Given the description of an element on the screen output the (x, y) to click on. 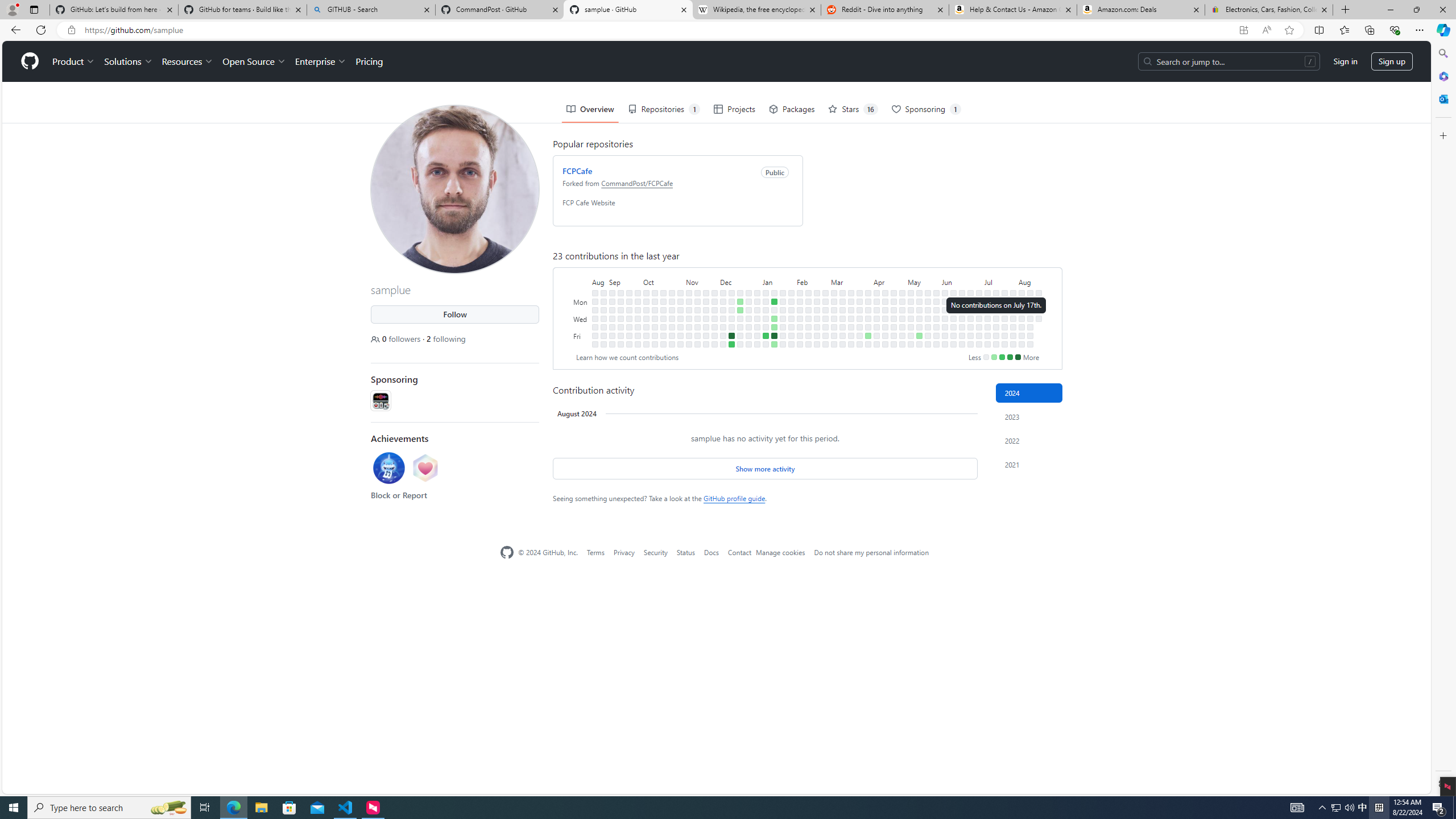
No contributions on May 23rd. (927, 326)
No contributions on March 1st. (825, 335)
No contributions on March 30th. (859, 343)
Saturday (581, 343)
No contributions on May 19th. (927, 292)
2024 (1028, 392)
No contributions on December 1st. (714, 335)
Follow (454, 314)
Contribution activity in 2022 (1028, 440)
Contribution activity in 2023 (1028, 416)
2 contributions on December 16th. (731, 343)
Privacy (623, 552)
No contributions on October 11th. (655, 318)
Resources (187, 60)
